Given the description of an element on the screen output the (x, y) to click on. 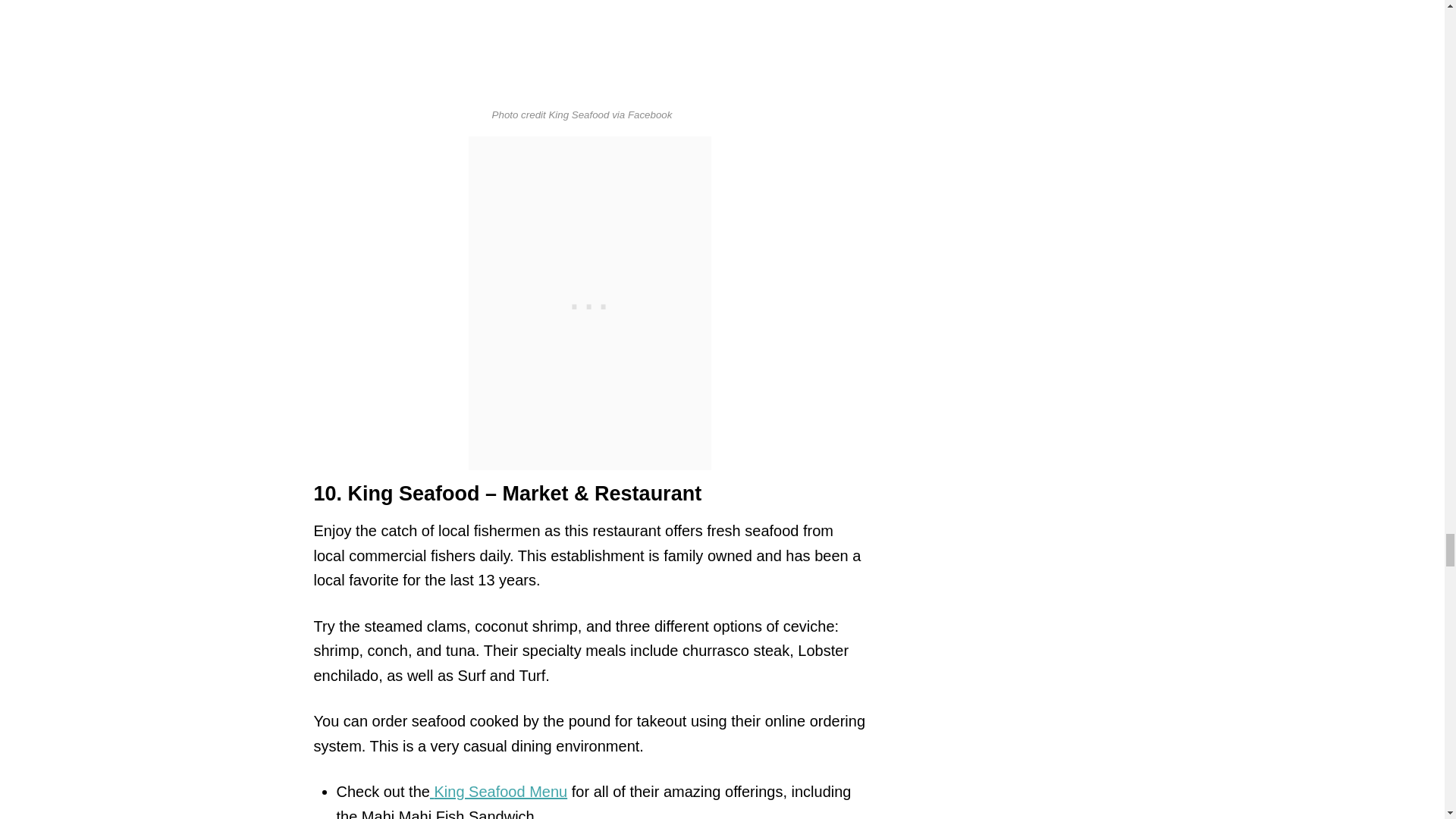
Best Restaurants in Marathon, Florida that you must TRY! 8 (582, 46)
